Given the description of an element on the screen output the (x, y) to click on. 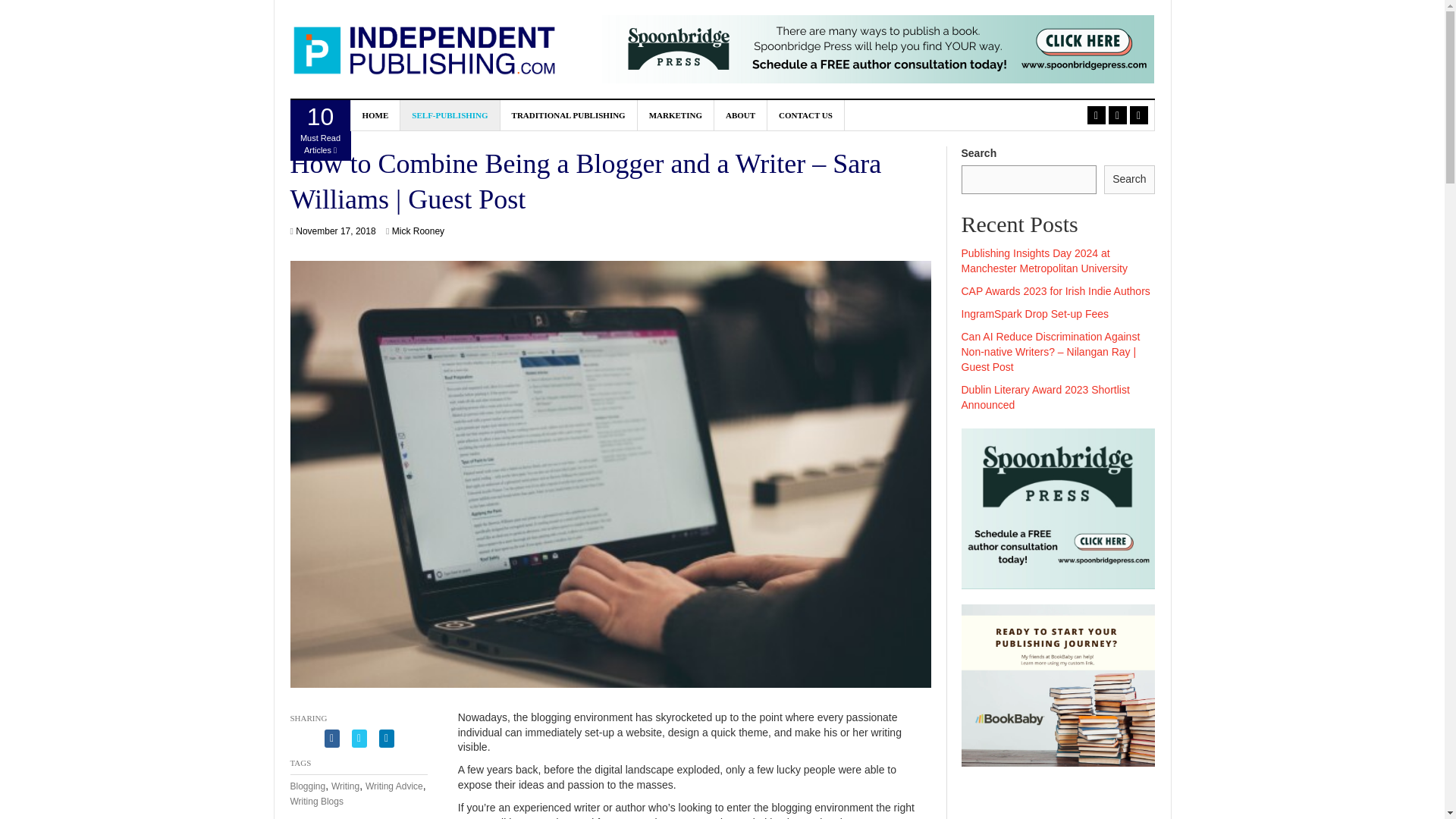
Blogging (306, 786)
CONTACT US (335, 231)
HOME (805, 114)
Writing Advice (319, 129)
MARKETING (375, 114)
ABOUT (394, 786)
SELF-PUBLISHING (675, 114)
Writing (740, 114)
TRADITIONAL PUBLISHING (449, 114)
Mick Rooney (345, 786)
The Independent Publishing Magazine (568, 114)
Writing Blogs (417, 231)
